Given the description of an element on the screen output the (x, y) to click on. 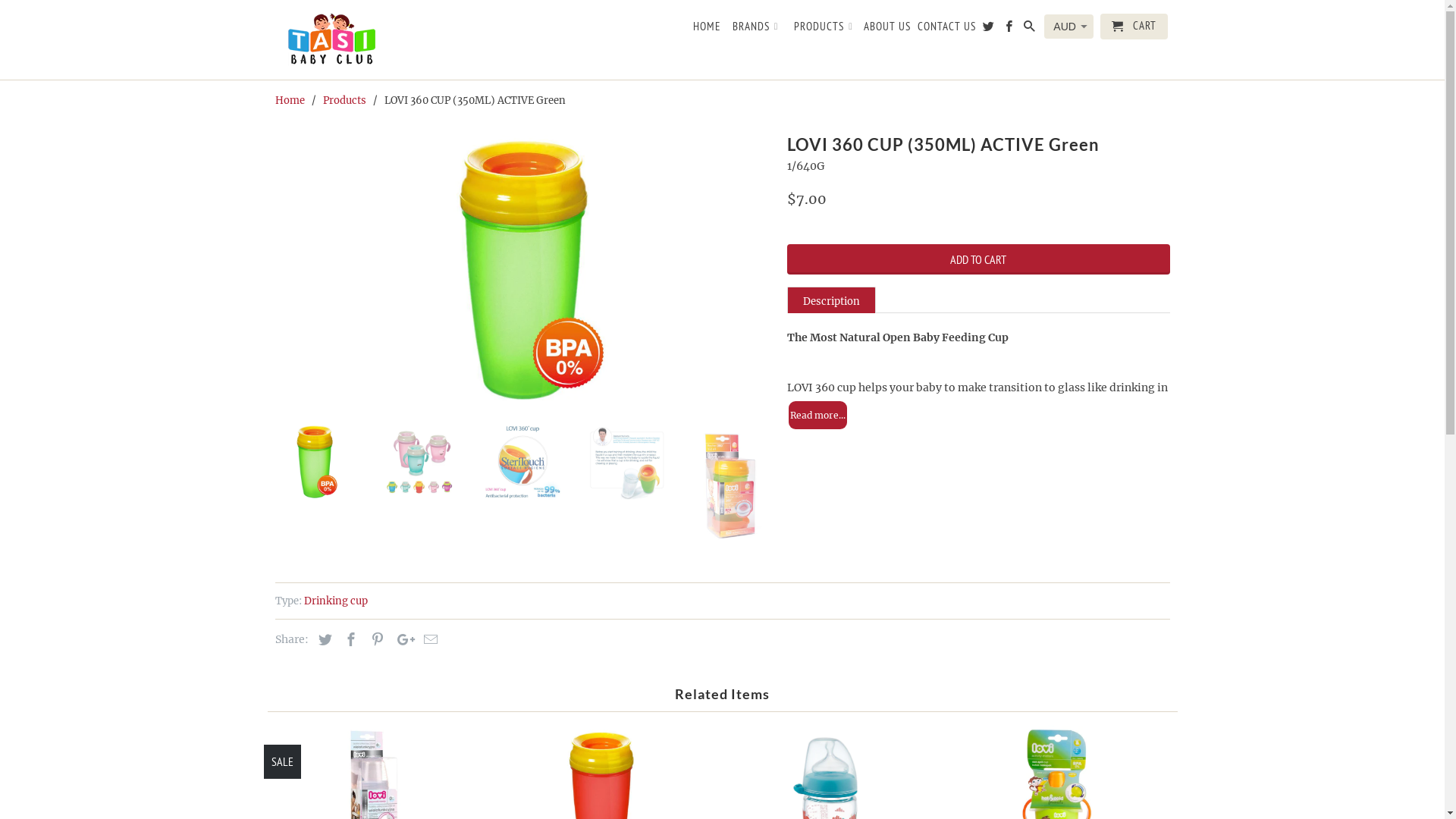
HOME Element type: text (706, 29)
Description Element type: text (831, 299)
Read more... Element type: text (817, 415)
Search Element type: hover (1030, 29)
CONTACT US Element type: text (946, 29)
Share this on Twitter Element type: hover (322, 639)
 Tasi Baby Club Element type: hover (380, 39)
LOVI360cup Element type: hover (522, 269)
 Tasi Baby Club on Twitter Element type: hover (989, 29)
 Tasi Baby Club on Facebook Element type: hover (1009, 29)
Home Element type: text (289, 100)
CART Element type: text (1133, 26)
ABOUT US Element type: text (886, 29)
Share this on Google+ Element type: hover (401, 639)
Email this to a friend Element type: hover (428, 639)
Drinking cup Element type: text (335, 600)
Share this on Pinterest Element type: hover (375, 639)
Share this on Facebook Element type: hover (348, 639)
Products Element type: text (344, 100)
ADD TO CART Element type: text (978, 259)
